Given the description of an element on the screen output the (x, y) to click on. 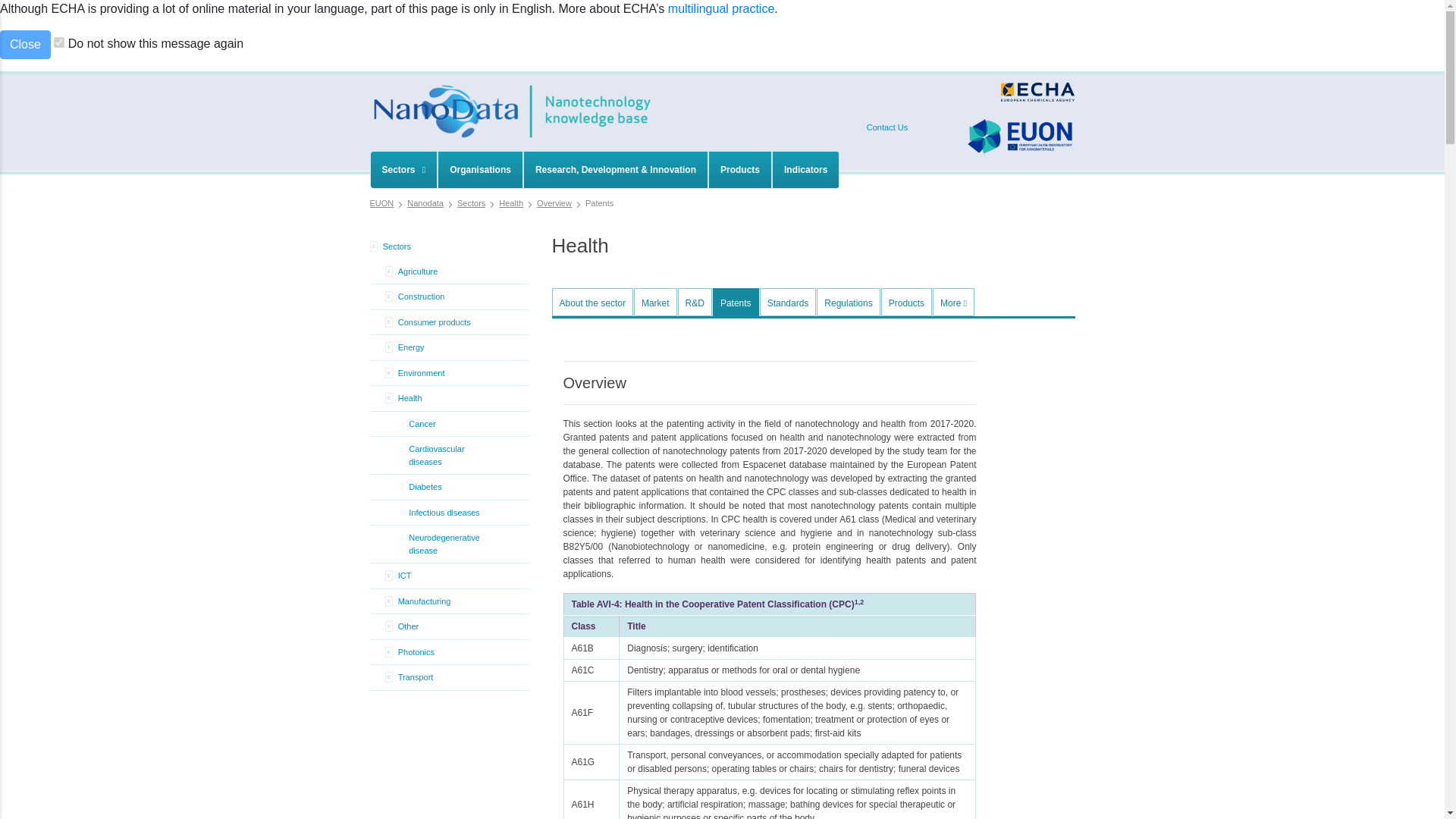
on (58, 41)
Indicators (805, 169)
Nanodata (425, 203)
Sectors (403, 169)
Health (510, 203)
Products (739, 169)
EUON (381, 203)
Contact Us (886, 126)
Overview (554, 203)
EUON (381, 203)
Nanodata (425, 203)
multilingual practice (721, 8)
Organisations (480, 169)
Sectors (470, 203)
Close (25, 44)
